Given the description of an element on the screen output the (x, y) to click on. 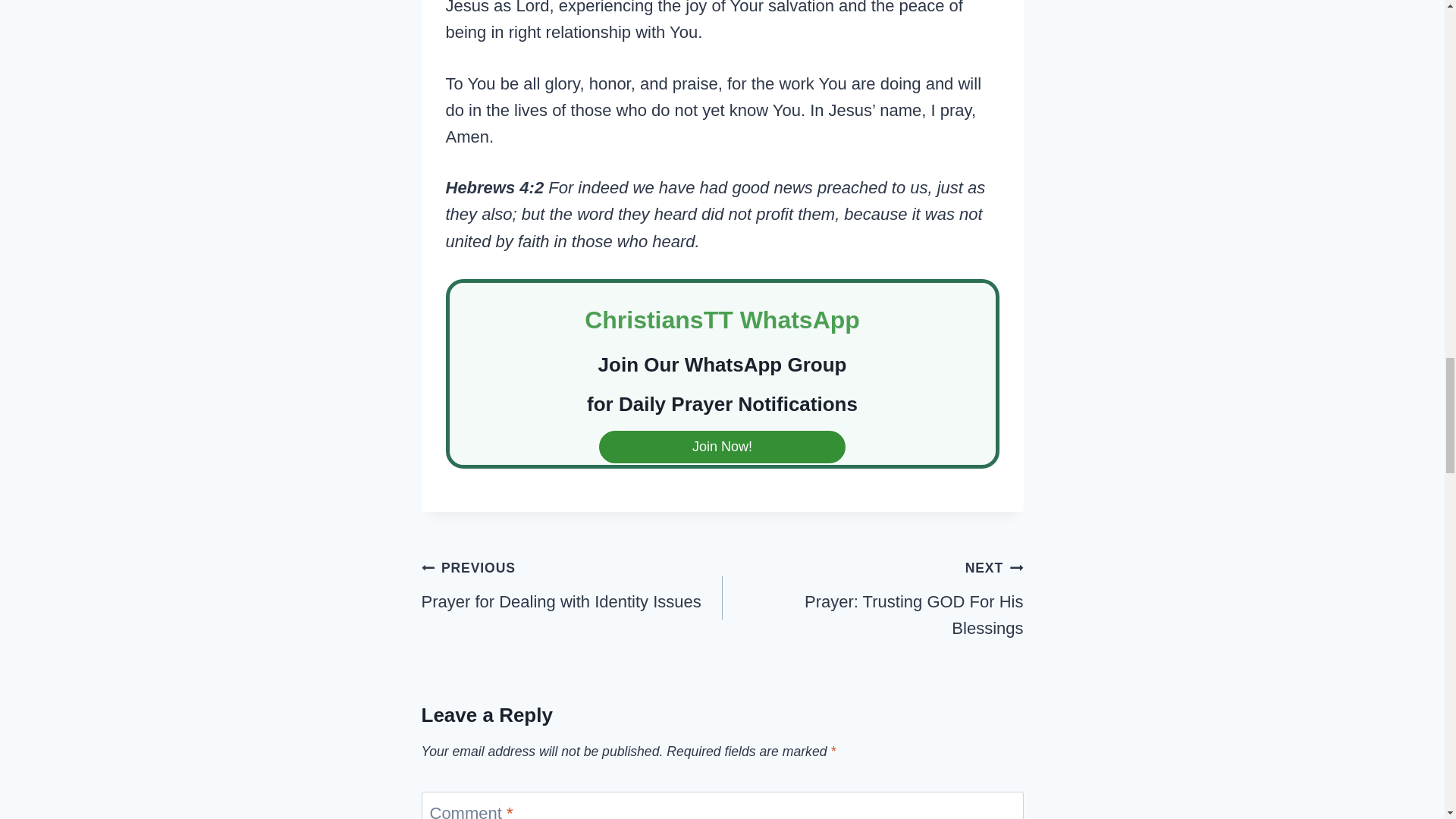
Join Now! (721, 447)
